Given the description of an element on the screen output the (x, y) to click on. 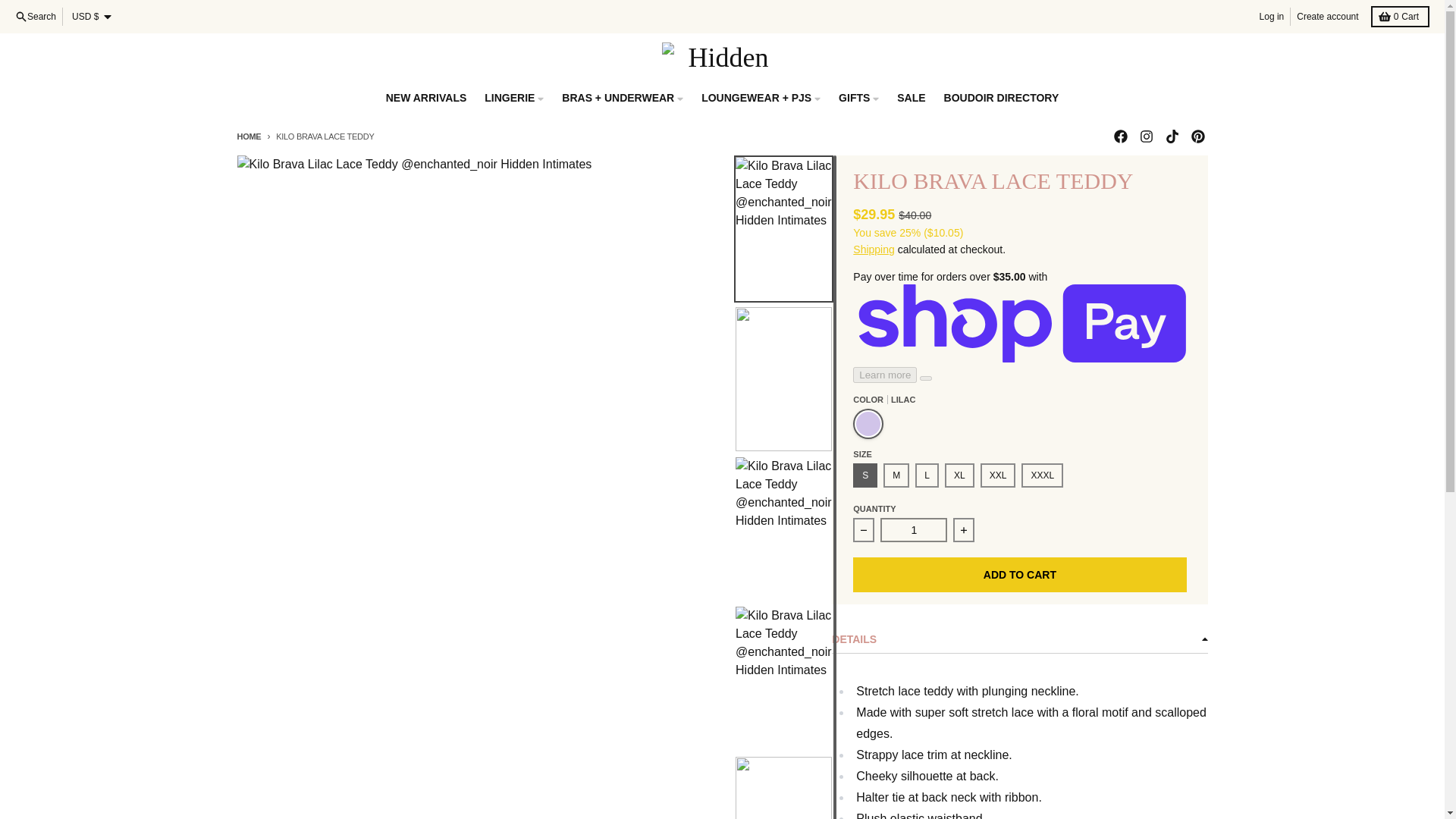
Back to the homepage (247, 135)
Log in (1271, 16)
Instagram - Hidden Intimates (1145, 136)
Page 31 (1019, 749)
1 (913, 529)
NEW ARRIVALS (426, 97)
Facebook - Hidden Intimates (1119, 136)
Pinterest - Hidden Intimates (1197, 136)
